Given the description of an element on the screen output the (x, y) to click on. 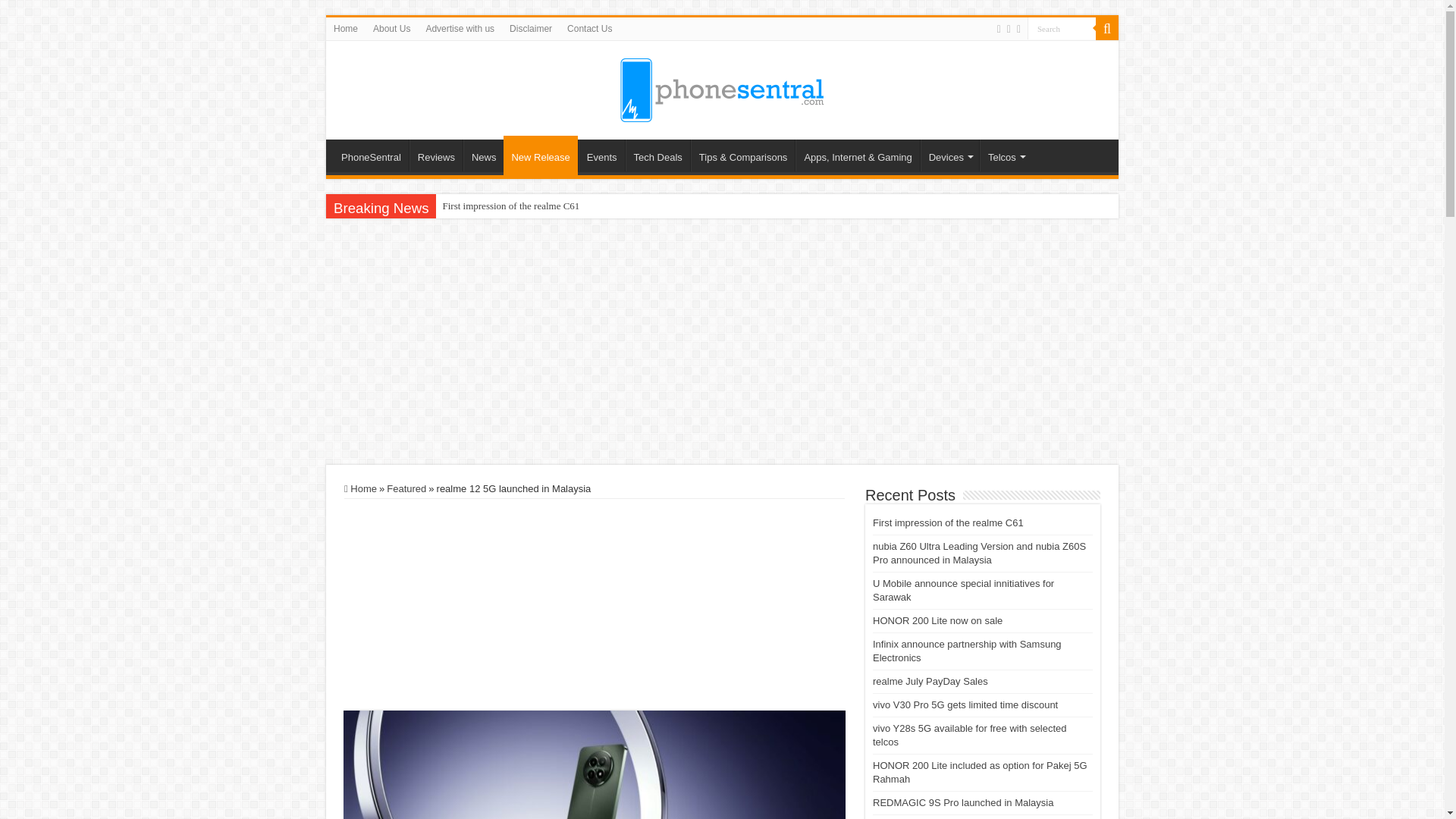
Search (1107, 28)
Disclaimer (530, 28)
About Us (391, 28)
Contact Us (589, 28)
PhoneSentral (371, 155)
Search (1061, 28)
Reviews (436, 155)
Home (345, 28)
PhoneSentral (721, 86)
First impression of the realme C61 (510, 206)
Search (1061, 28)
Advertise with us (459, 28)
Search (1061, 28)
